Given the description of an element on the screen output the (x, y) to click on. 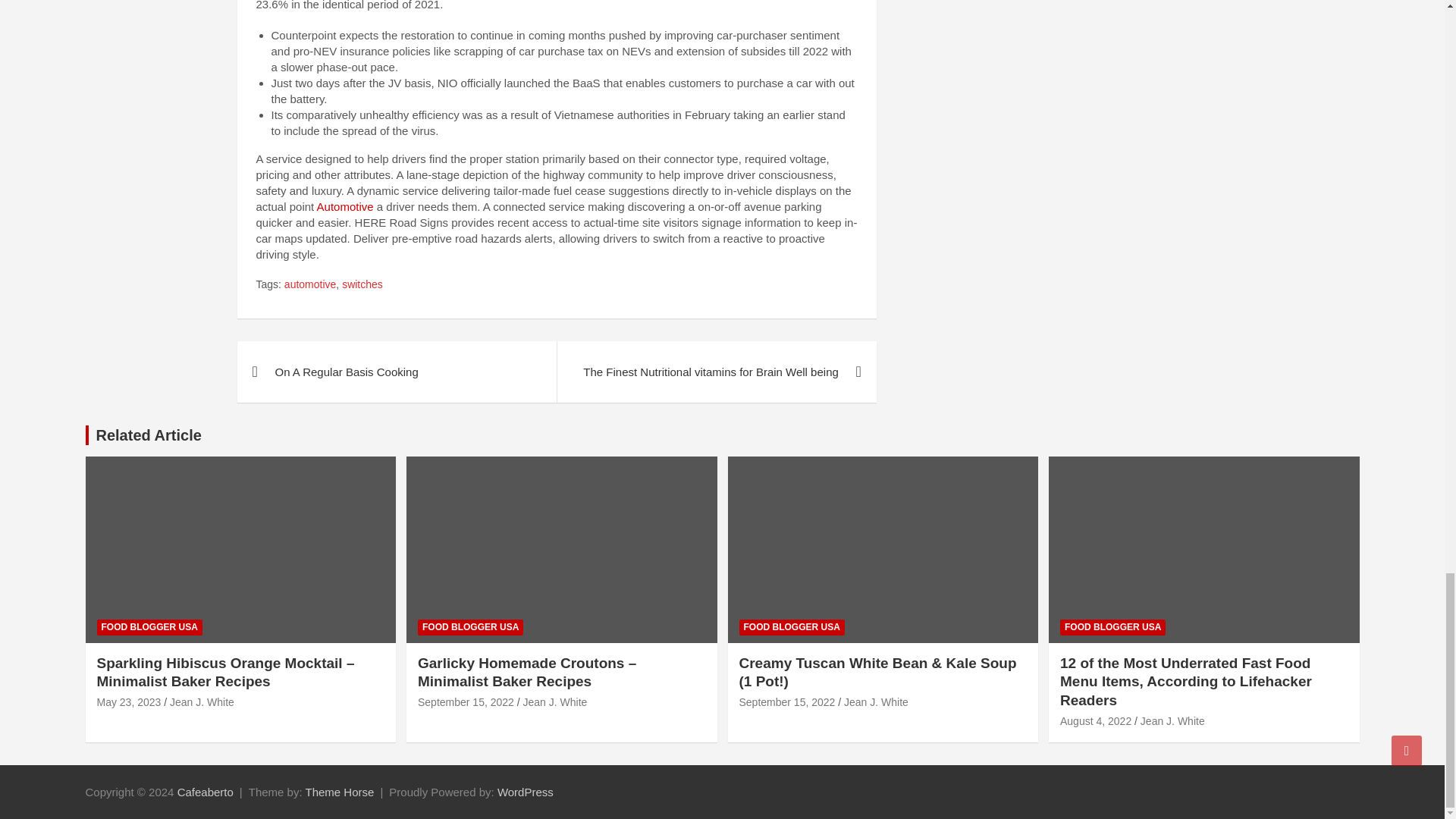
The Finest Nutritional vitamins for Brain Well being (716, 371)
switches (362, 283)
automotive (309, 283)
On A Regular Basis Cooking (395, 371)
Automotive (345, 205)
